Given the description of an element on the screen output the (x, y) to click on. 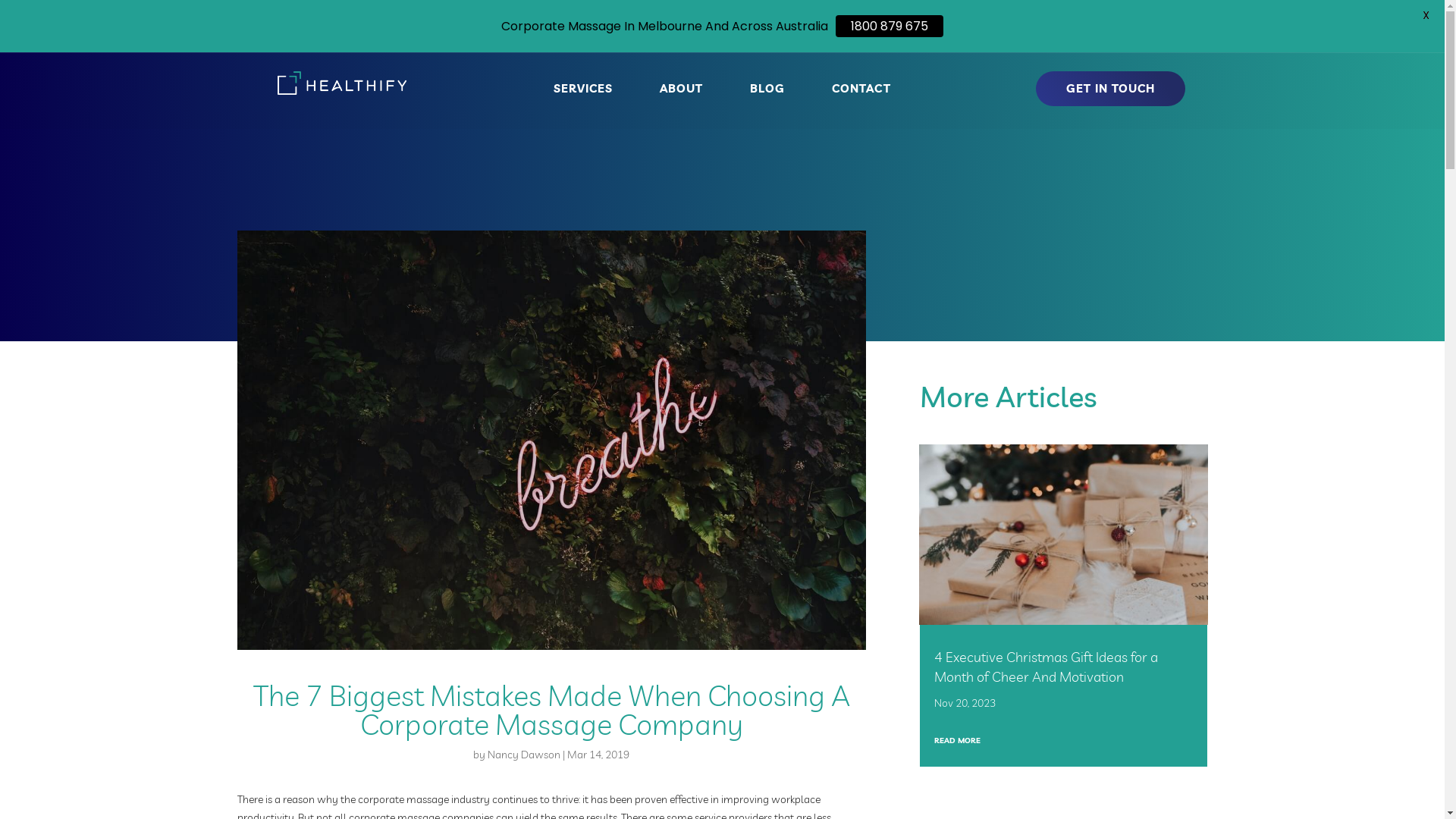
GET IN TOUCH Element type: text (1110, 88)
breathe Element type: hover (551, 439)
BLOG Element type: text (767, 91)
SERVICES Element type: text (582, 91)
Nancy Dawson Element type: text (523, 754)
CONTACT Element type: text (861, 91)
READ MORE Element type: text (957, 740)
ABOUT Element type: text (681, 91)
1800 879 675 Element type: text (889, 26)
